Given the description of an element on the screen output the (x, y) to click on. 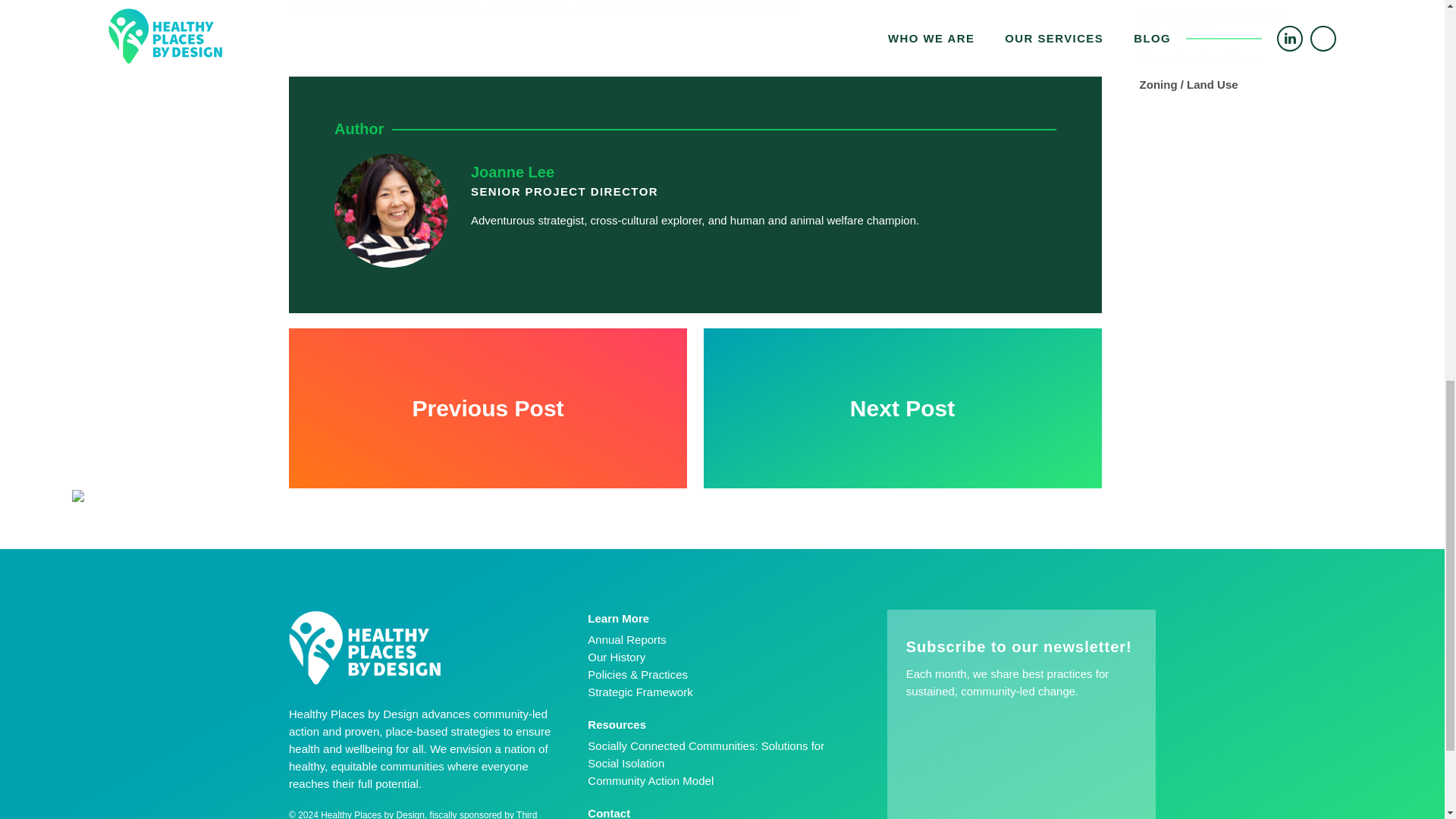
Joanne Lee (512, 171)
Next Post (902, 408)
Previous Post (488, 408)
Sustainable Thinking Tag (1256, 1)
